Given the description of an element on the screen output the (x, y) to click on. 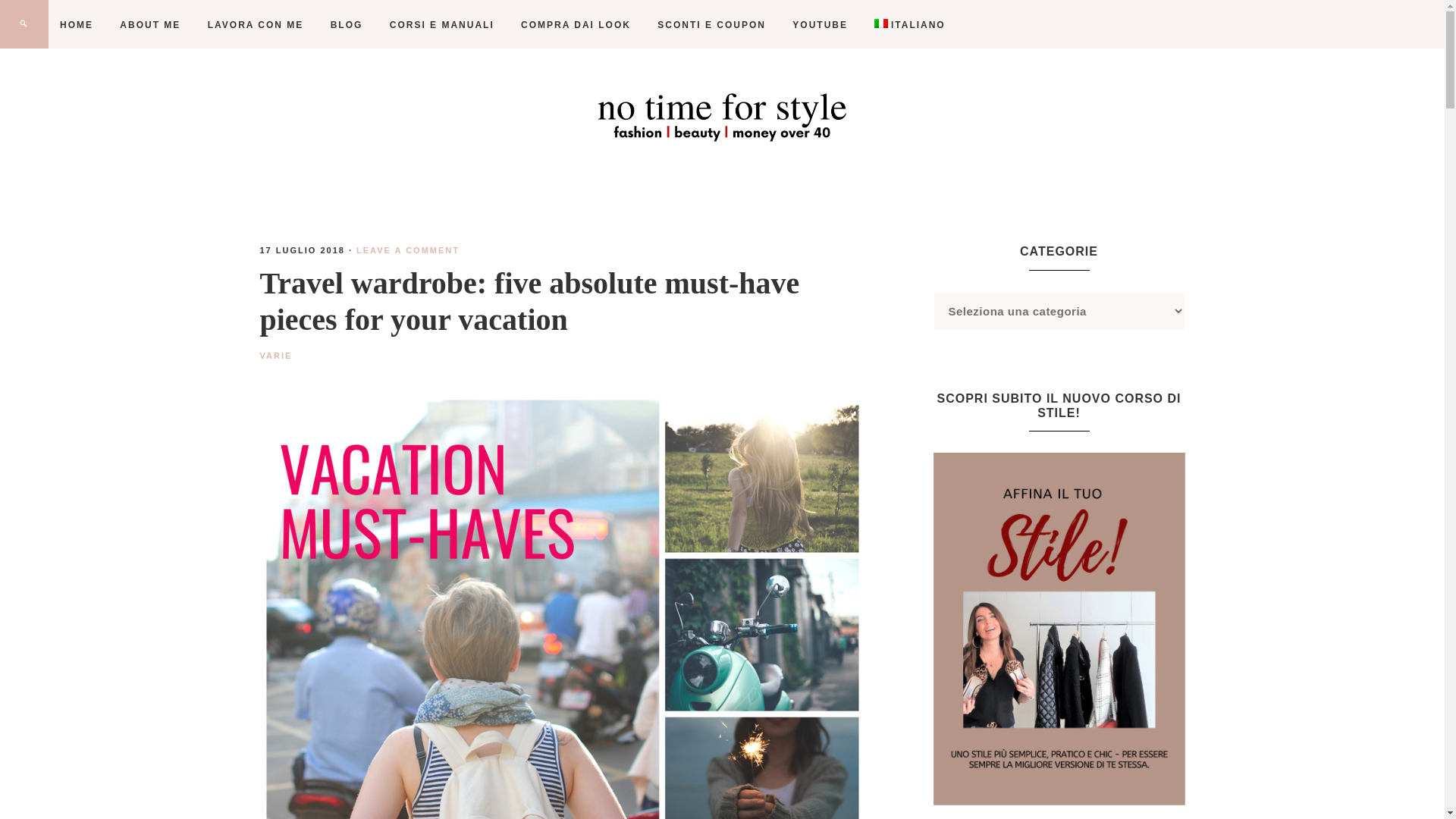
HOME (76, 24)
ABOUT ME (149, 24)
Italiano (909, 24)
LEAVE A COMMENT (408, 249)
ITALIANO (909, 24)
CORSI E MANUALI (441, 24)
COMPRA DAI LOOK (575, 24)
YOUTUBE (819, 24)
LAVORA CON ME (255, 24)
BLOG (346, 24)
SCONTI E COUPON (711, 24)
VARIE (275, 355)
